Given the description of an element on the screen output the (x, y) to click on. 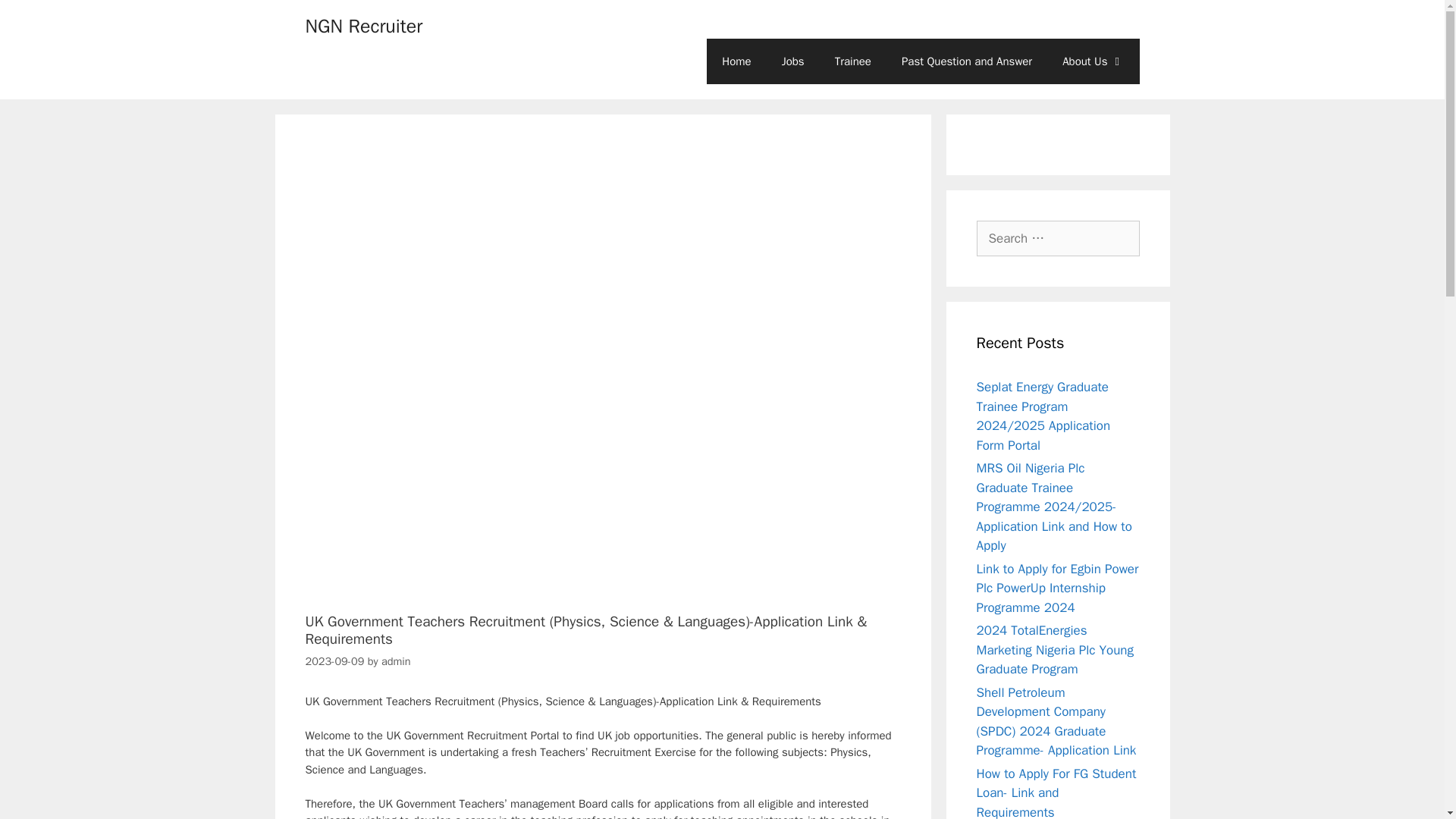
admin (395, 661)
View all posts by admin (395, 661)
Jobs (793, 60)
Home (735, 60)
Past Question and Answer (966, 60)
About Us (1092, 60)
Search for: (1058, 238)
Search (35, 18)
Trainee (852, 60)
